Given the description of an element on the screen output the (x, y) to click on. 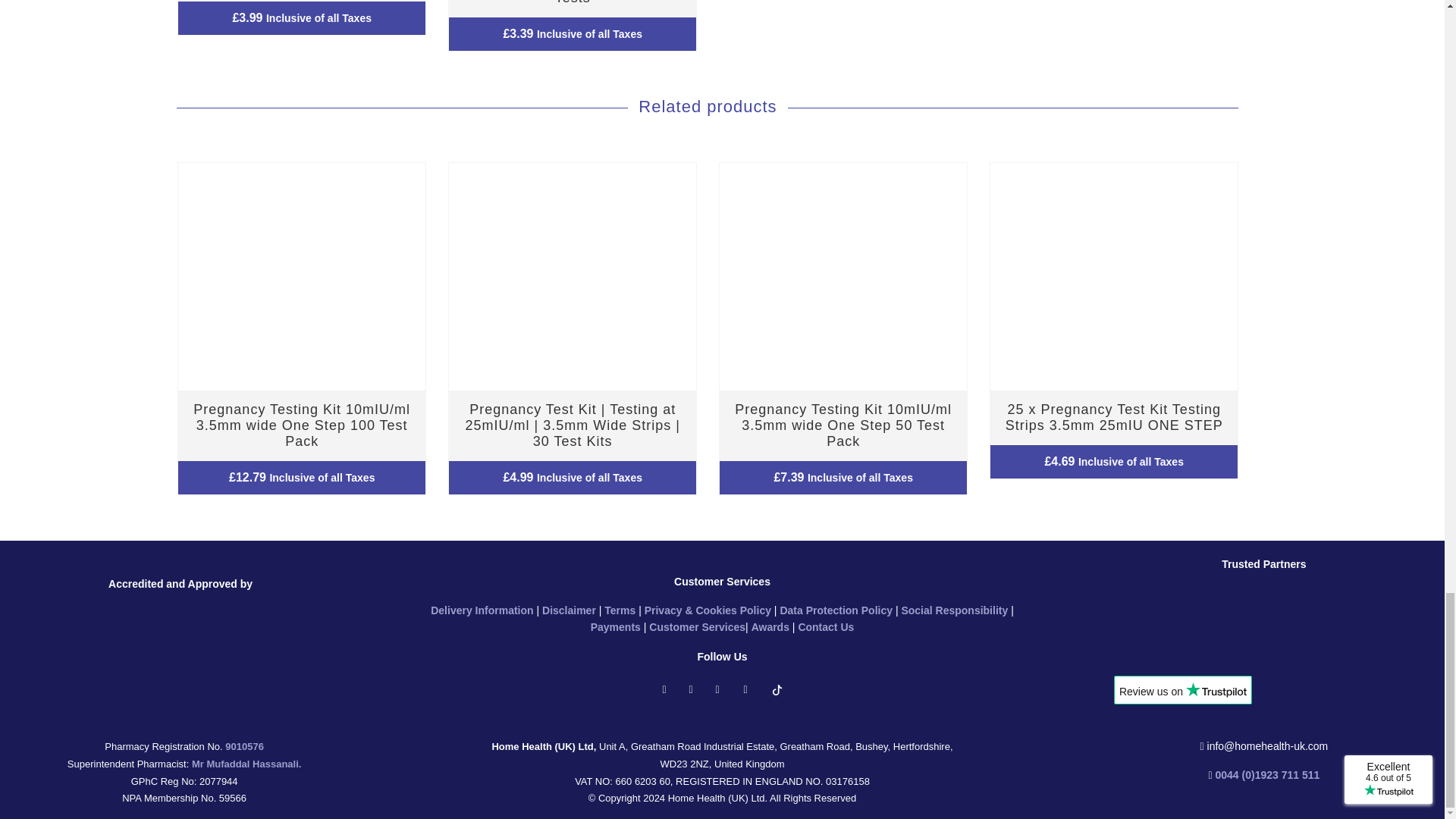
Customer reviews powered by Trustpilot (1182, 706)
